Given the description of an element on the screen output the (x, y) to click on. 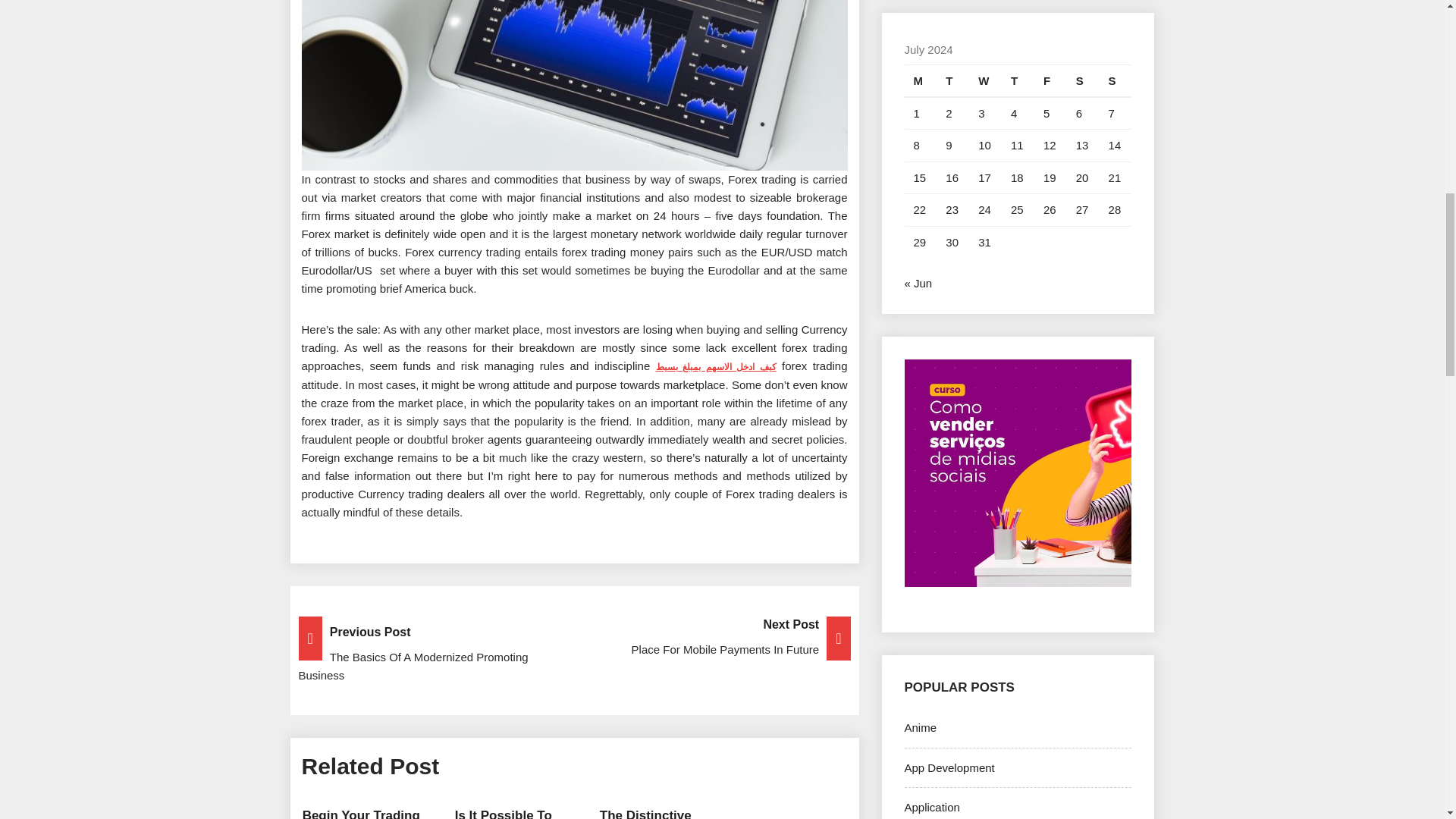
Thursday (1017, 80)
Friday (1050, 80)
Wednesday (985, 80)
Begin Your Trading Career with Swapnex review (361, 813)
2 (948, 113)
4 (1013, 113)
5 (1046, 113)
Monday (920, 80)
Saturday (1083, 80)
Sunday (1115, 80)
12 (1050, 144)
7 (1111, 113)
11 (1016, 144)
8 (915, 144)
